Given the description of an element on the screen output the (x, y) to click on. 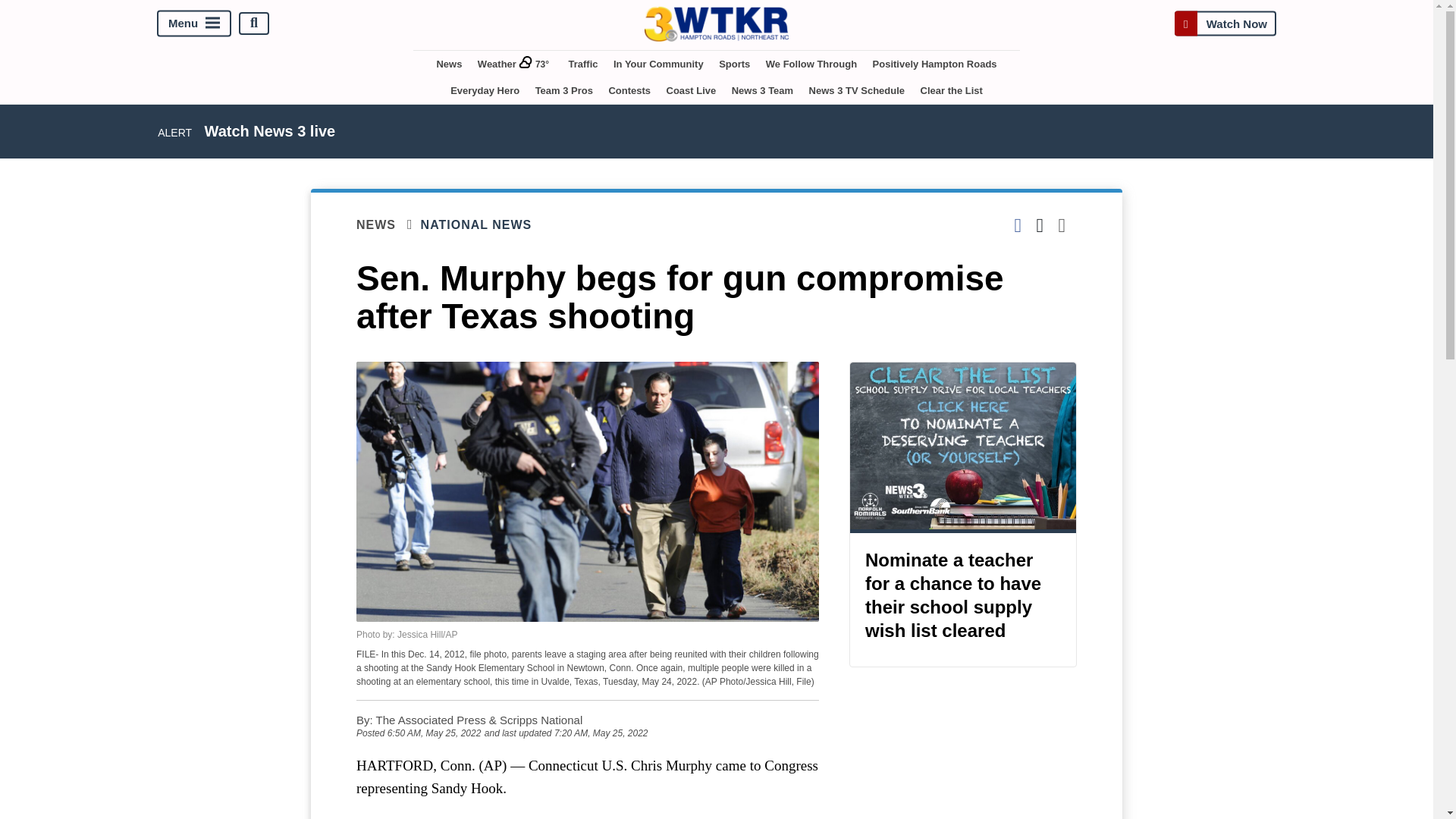
Menu (194, 22)
Watch Now (1224, 22)
